Given the description of an element on the screen output the (x, y) to click on. 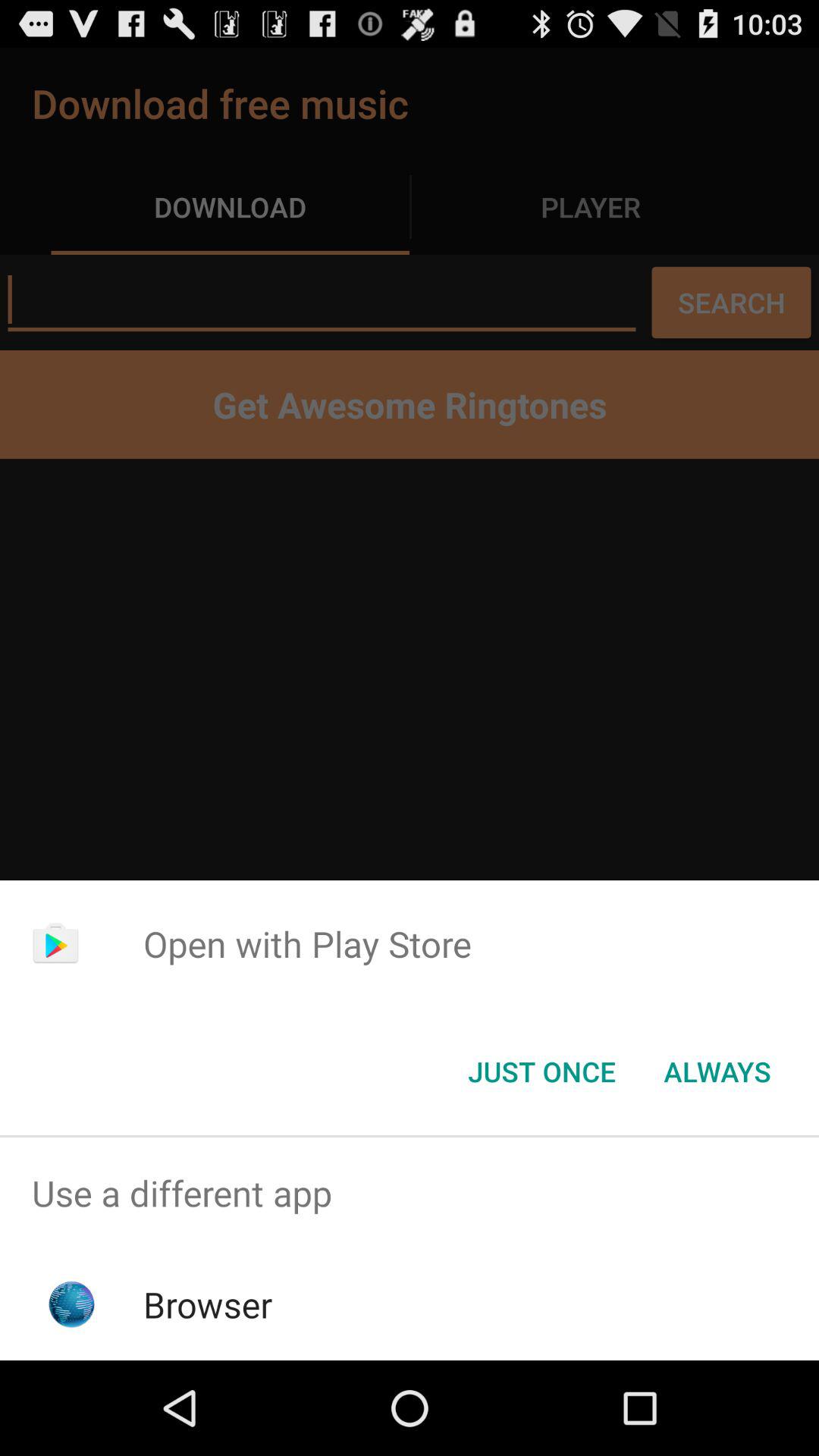
open the item below open with play icon (541, 1071)
